Given the description of an element on the screen output the (x, y) to click on. 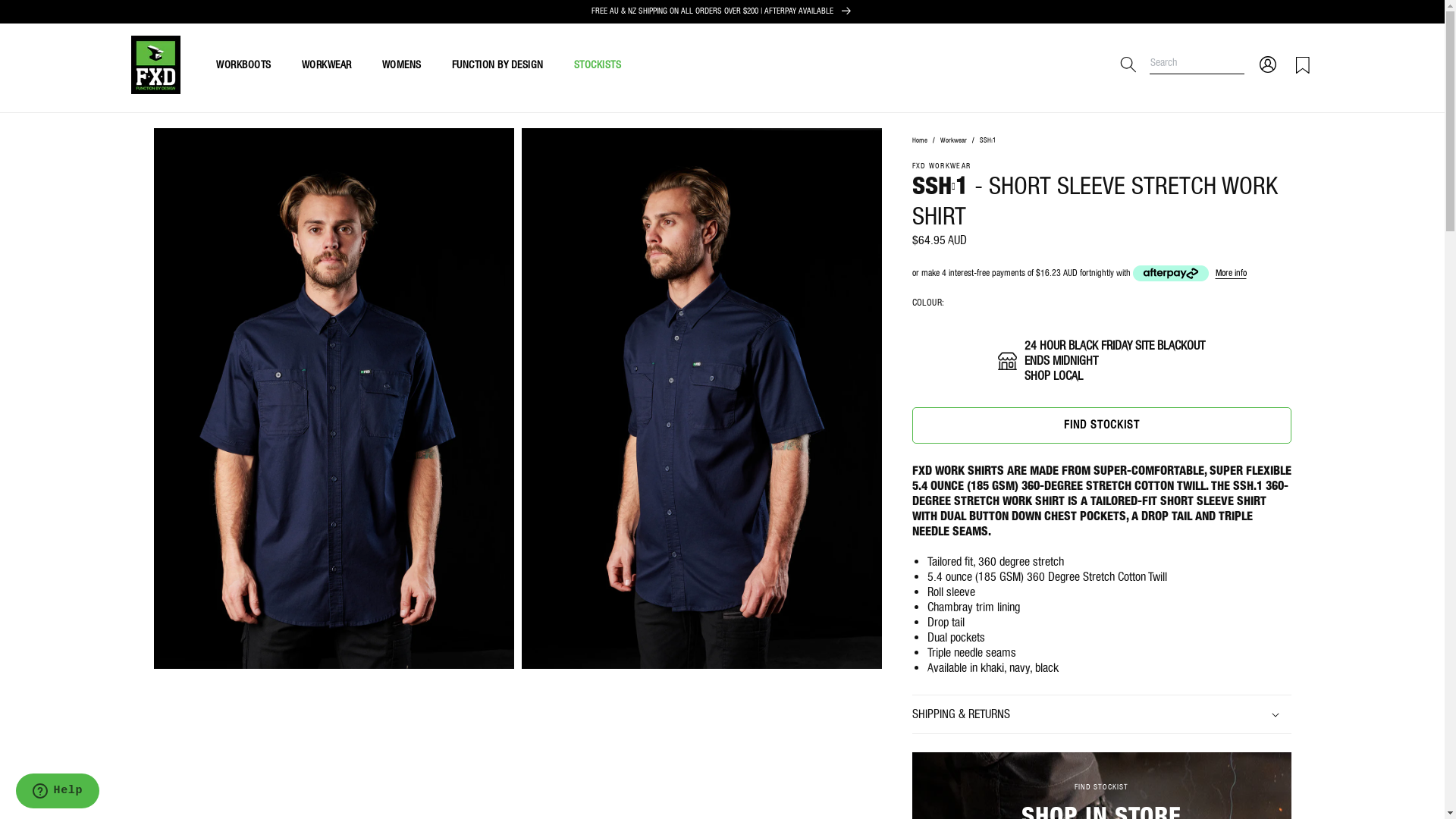
WORKWEAR Element type: text (326, 64)
Home Element type: text (919, 140)
WORKBOOTS Element type: text (243, 64)
More info Element type: text (1230, 272)
STOCKISTS Element type: text (597, 64)
Workwear Element type: text (953, 140)
FUNCTION BY DESIGN Element type: text (497, 64)
Open media 2 in modal Element type: text (701, 398)
SKIP TO PRODUCT INFORMATION Element type: text (236, 144)
FIND STOCKIST Element type: text (1100, 425)
WOMENS Element type: text (401, 64)
Open media 1 in modal Element type: text (333, 398)
Opens a widget where you can find more information Element type: hover (57, 792)
Log in Element type: text (1266, 64)
